Given the description of an element on the screen output the (x, y) to click on. 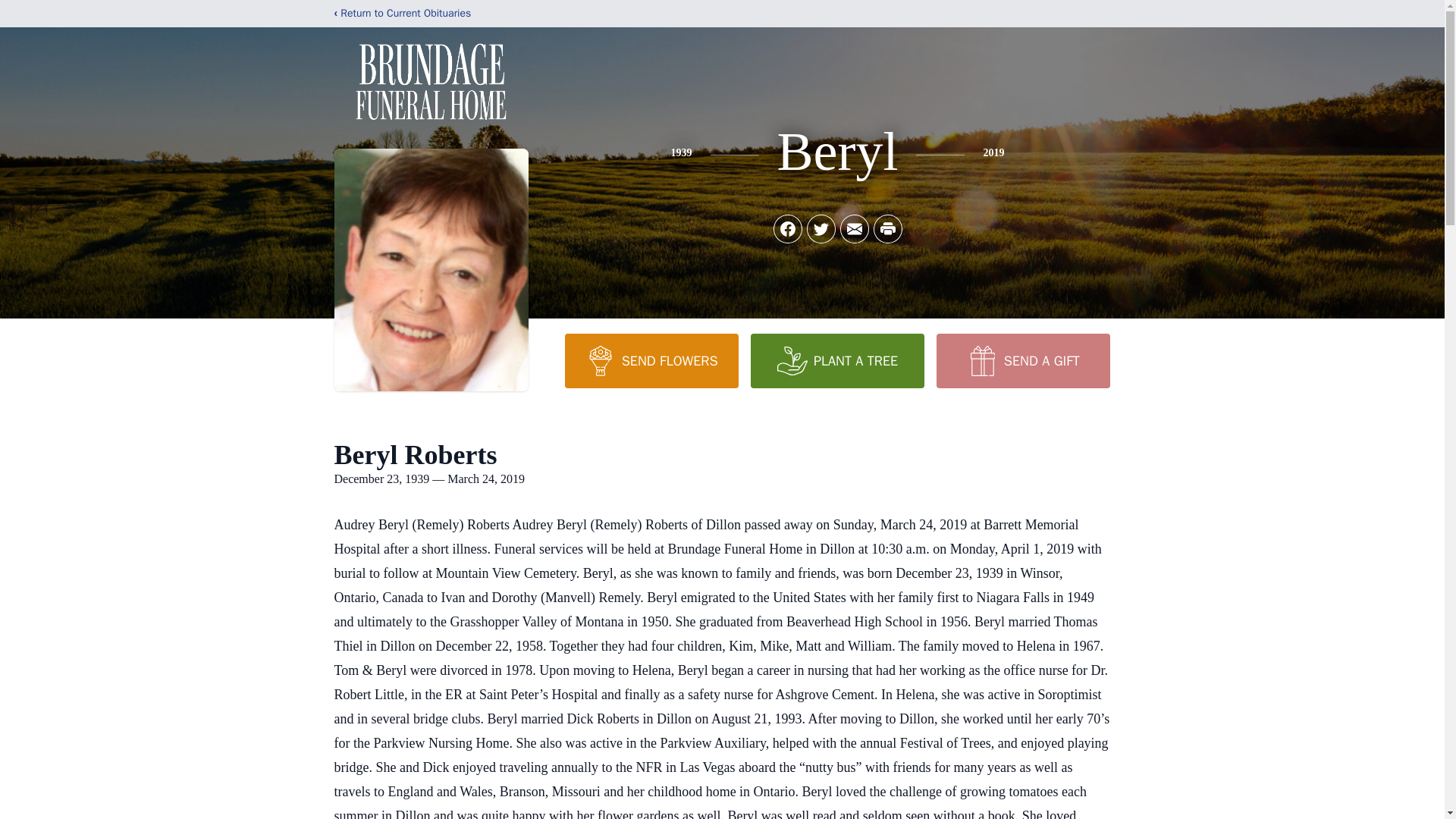
SEND FLOWERS (651, 360)
PLANT A TREE (837, 360)
SEND A GIFT (1022, 360)
